Given the description of an element on the screen output the (x, y) to click on. 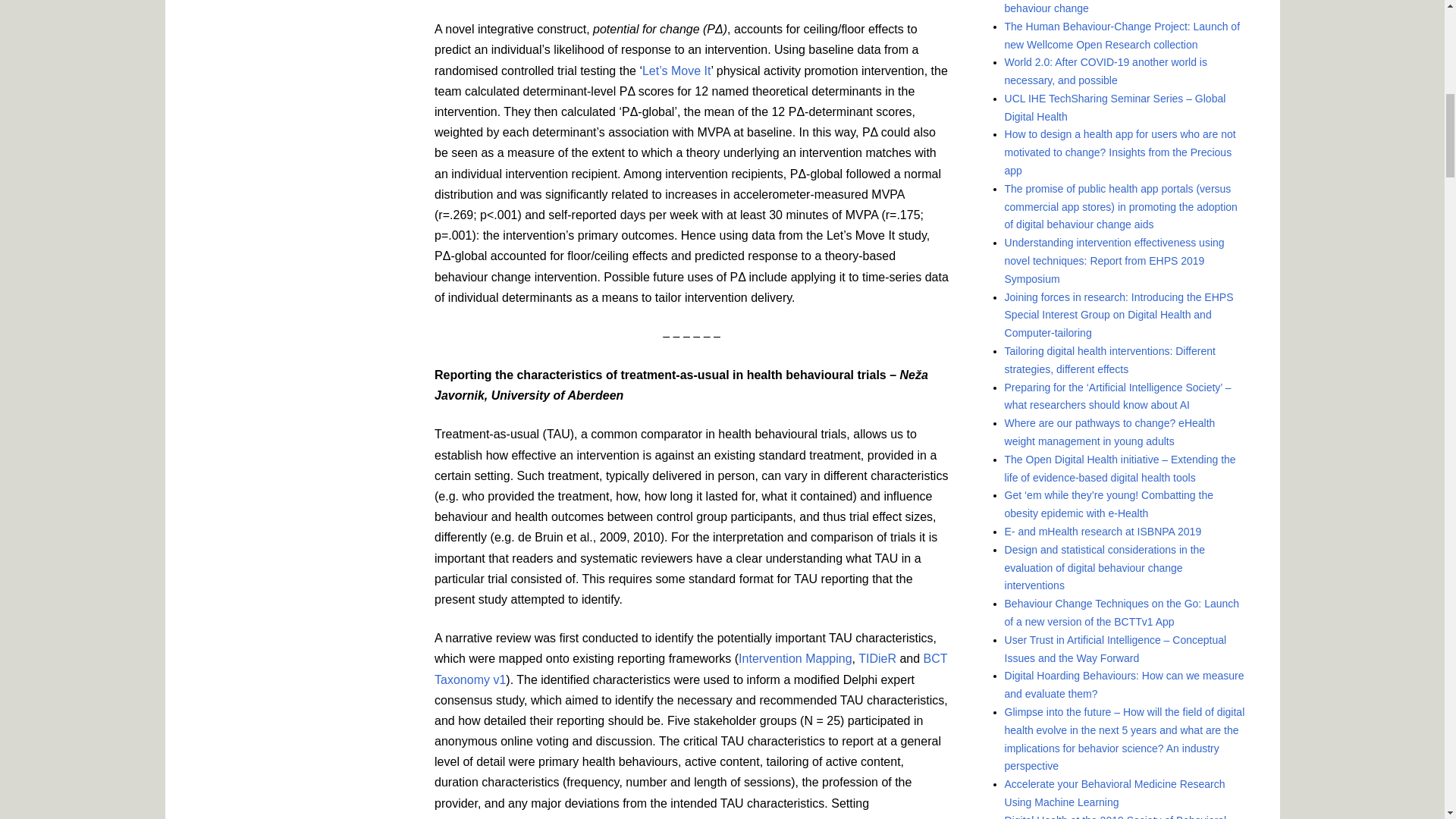
TIDieR (876, 658)
Intervention Mapping (794, 658)
BCT Taxonomy v1 (690, 668)
